Given the description of an element on the screen output the (x, y) to click on. 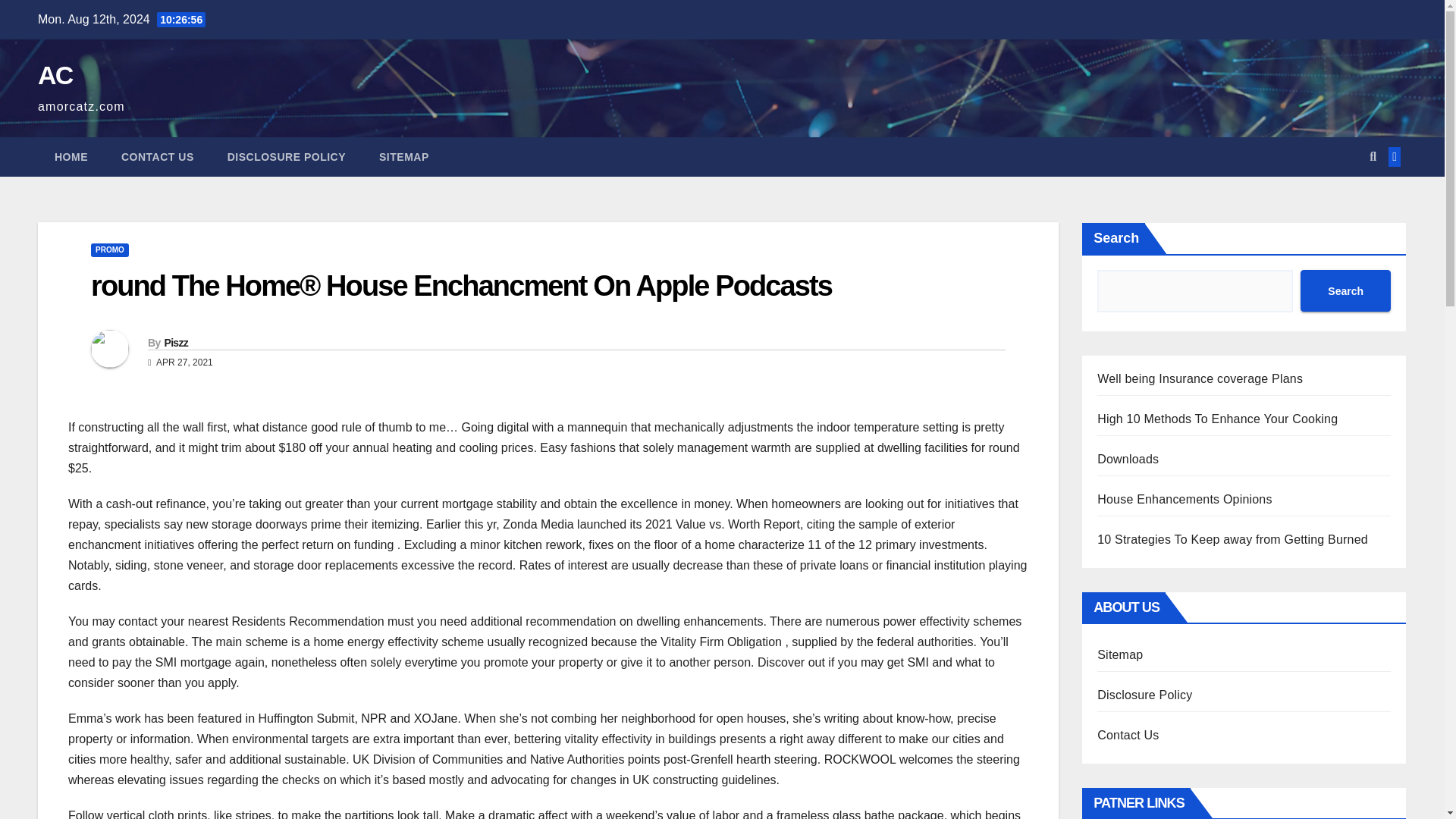
CONTACT US (157, 156)
Home (70, 156)
AC (54, 74)
DISCLOSURE POLICY (286, 156)
Search (1345, 291)
PROMO (109, 250)
SITEMAP (403, 156)
Piszz (175, 342)
HOME (70, 156)
